Given the description of an element on the screen output the (x, y) to click on. 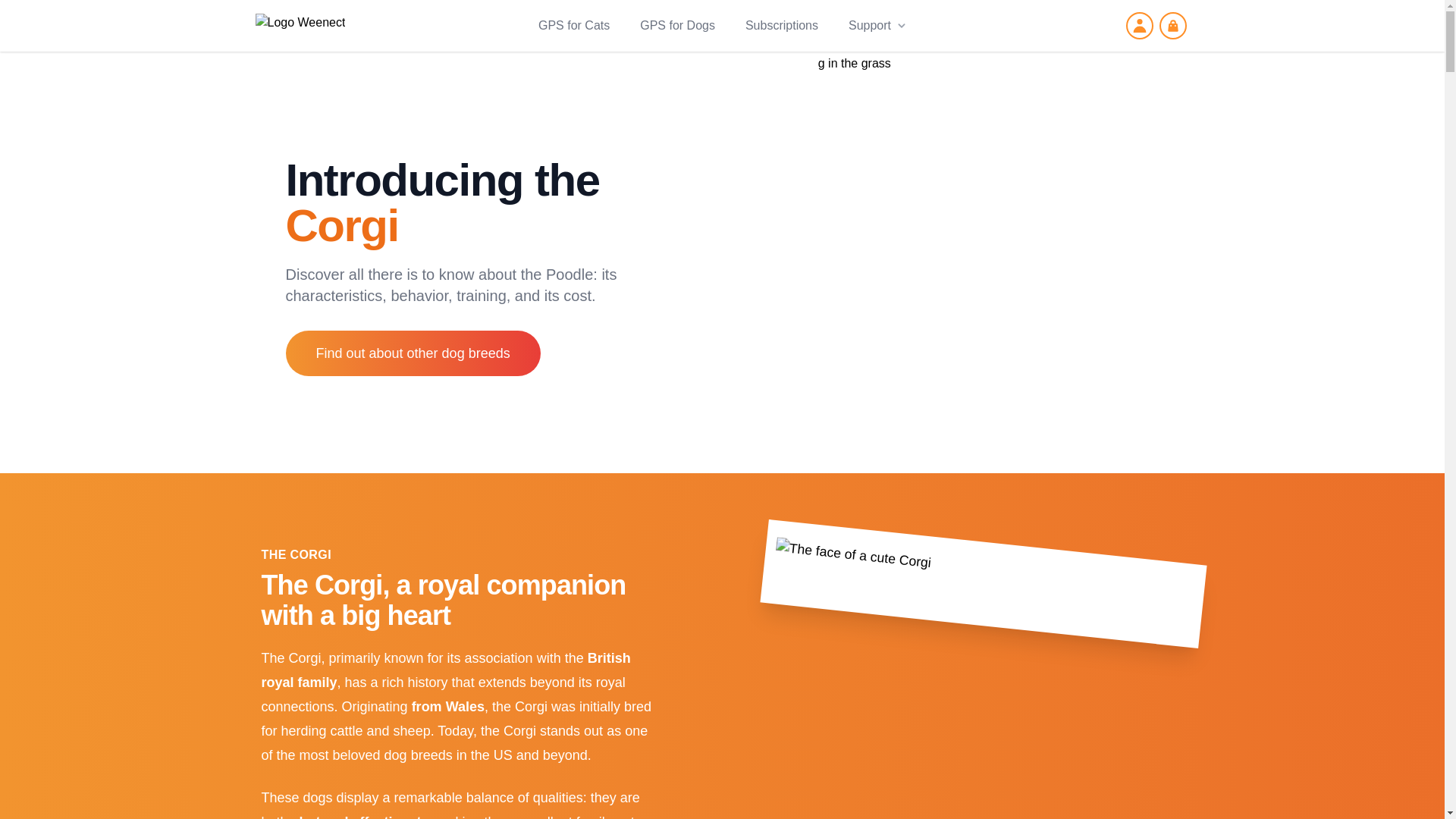
Subscriptions (781, 25)
GPS for Cats (574, 25)
GPS for Dogs (677, 25)
GPS for Cats (573, 25)
Subscriptions (781, 25)
Subscriptions (781, 25)
GPS for Dogs (676, 25)
Find out about other dog breeds (412, 352)
Support (876, 25)
GPS for Cats (573, 25)
